Given the description of an element on the screen output the (x, y) to click on. 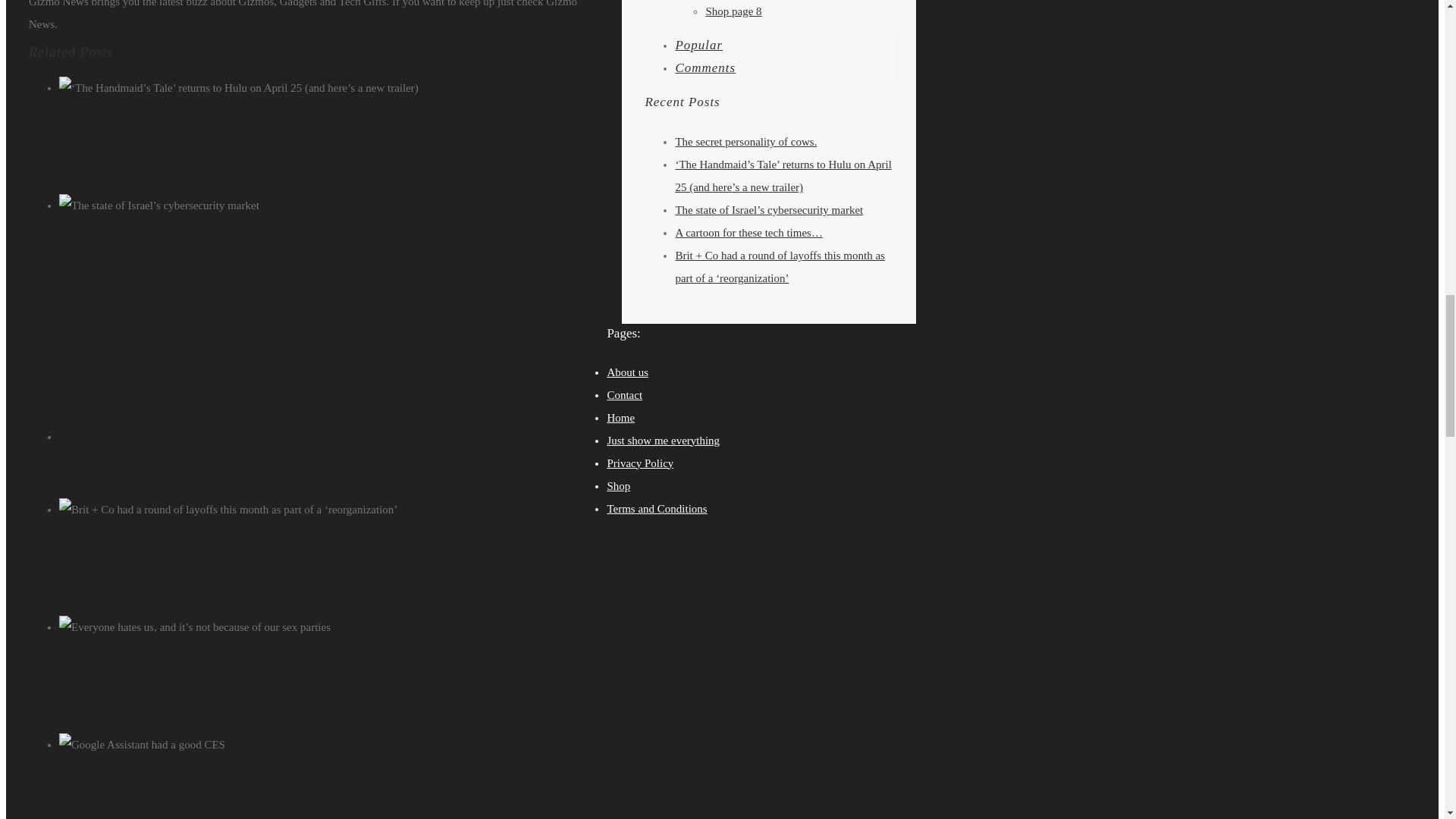
Gallery (349, 250)
Permalink (356, 649)
Gallery (349, 554)
Permalink (356, 532)
Permalink (356, 110)
Gallery (349, 133)
Permalink (356, 436)
Permalink (356, 227)
